Given the description of an element on the screen output the (x, y) to click on. 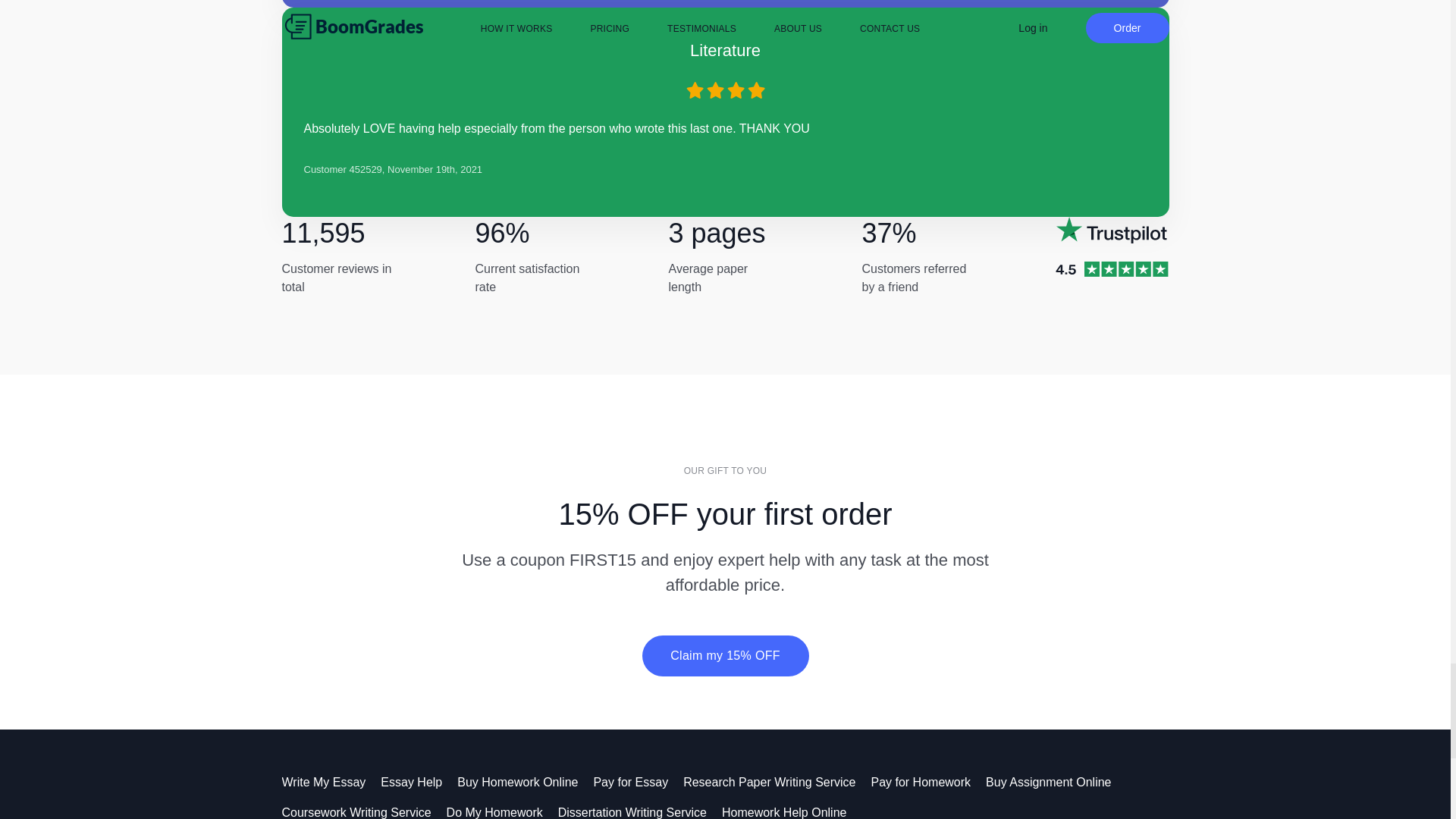
Research Paper Writing Service (776, 781)
Homework Help Online (791, 812)
Do My Homework (501, 812)
Dissertation Writing Service (639, 812)
Essay Help (418, 781)
Pay for Essay (637, 781)
Write My Essay (331, 781)
Coursework Writing Service (364, 812)
Essay Help (418, 781)
Buy Homework Online (524, 781)
Pay for Homework (927, 781)
Buy Assignment Online (1055, 781)
